Given the description of an element on the screen output the (x, y) to click on. 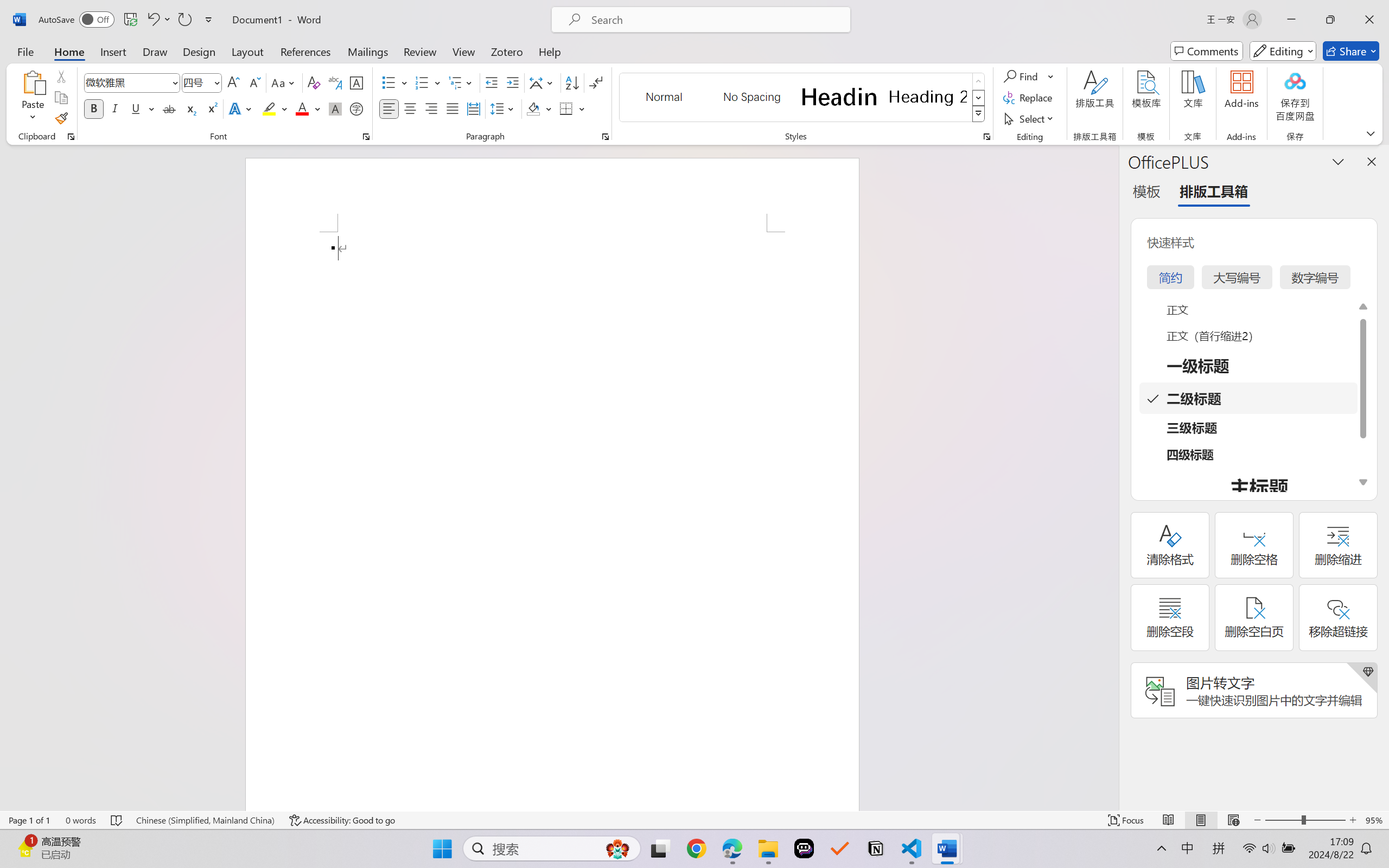
Undo <ApplyStyleToDoc>b__0 (152, 19)
